Given the description of an element on the screen output the (x, y) to click on. 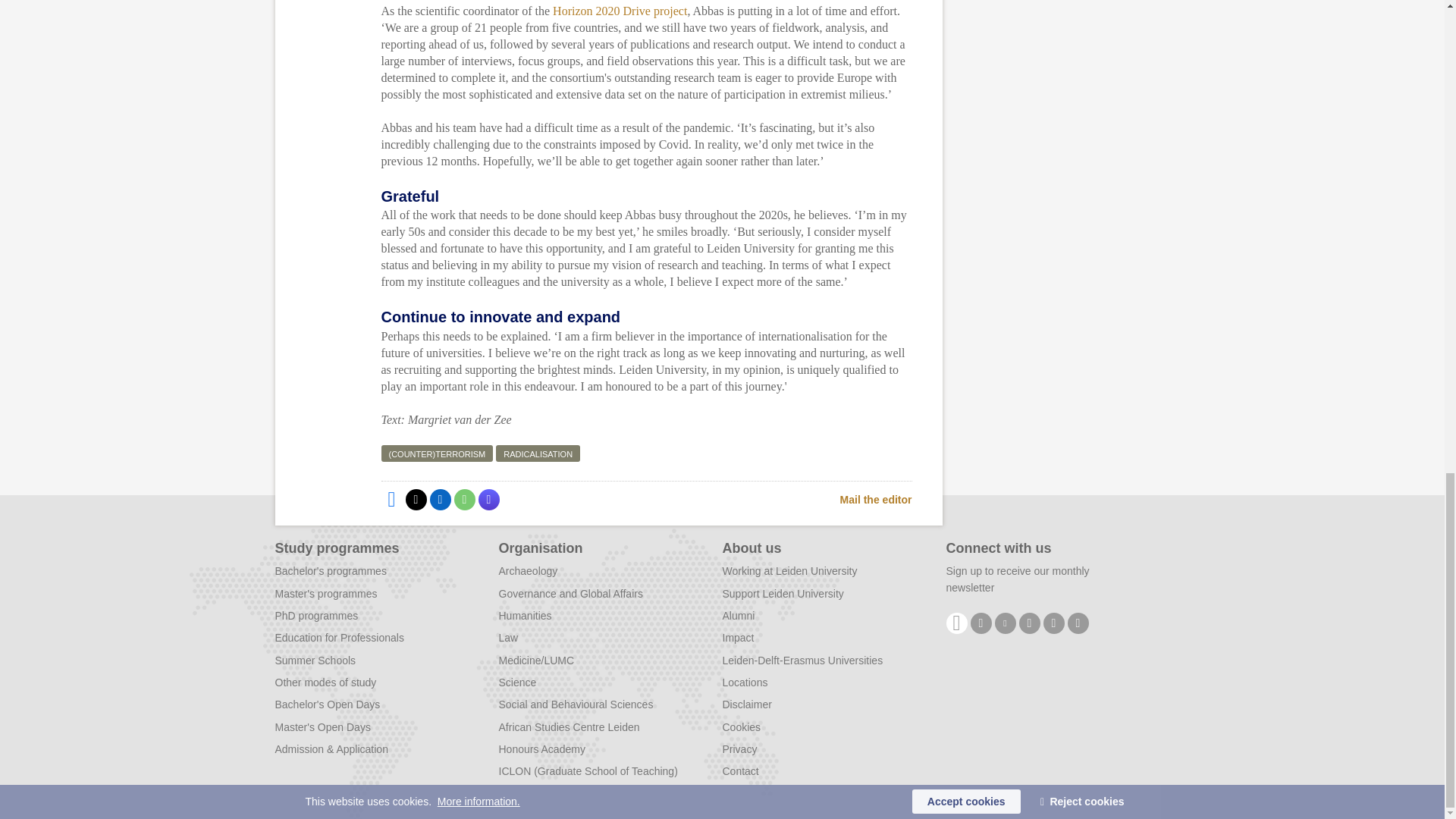
Horizon 2020 Drive project (620, 10)
Share on X (415, 499)
Share on Facebook (390, 499)
Share by Mastodon (488, 499)
Share on LinkedIn (439, 499)
Share by WhatsApp (463, 499)
RADICALISATION (537, 453)
